Given the description of an element on the screen output the (x, y) to click on. 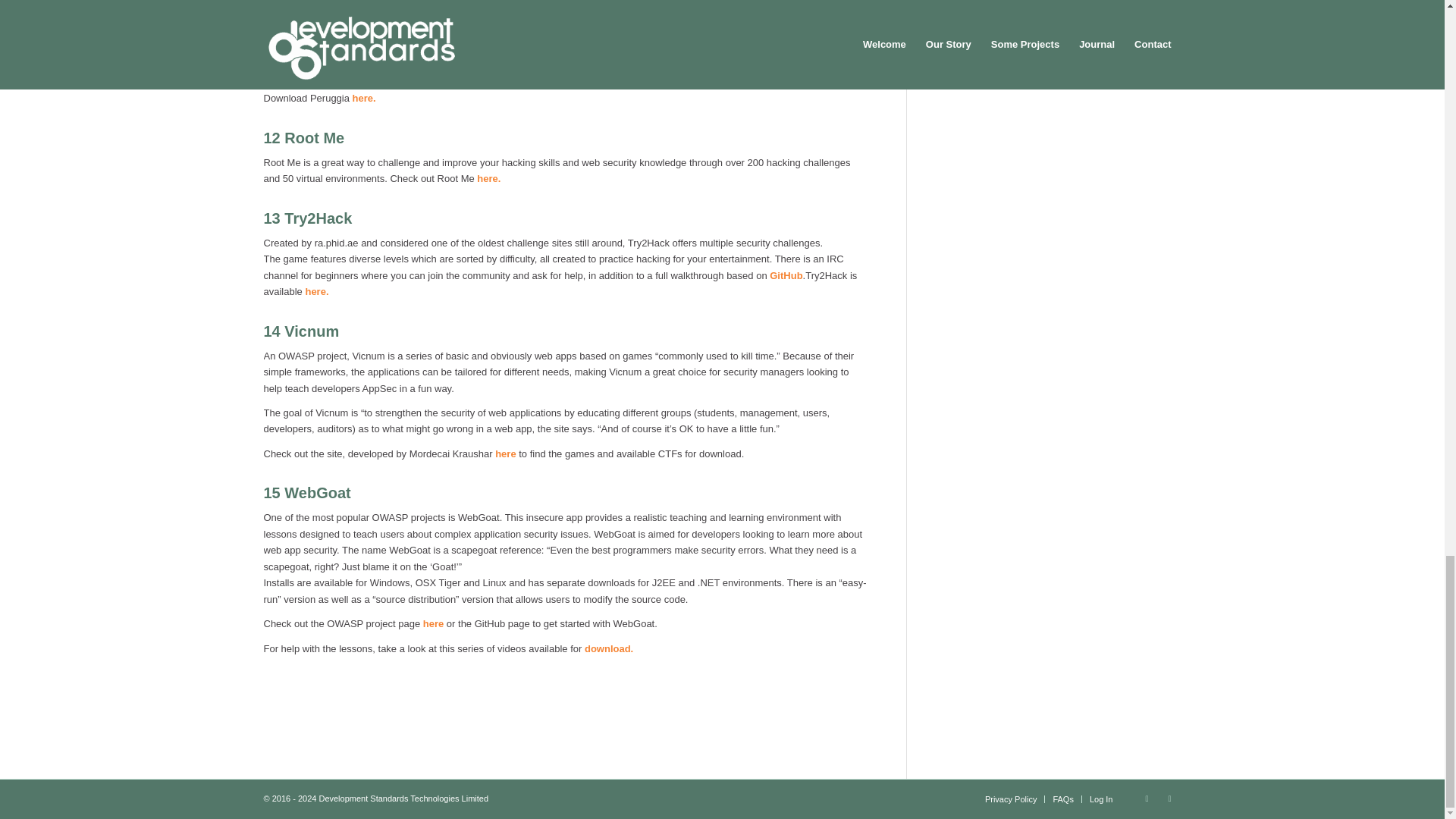
here. (362, 98)
Root Me (313, 137)
Twitter (1146, 798)
here. (488, 178)
Facebook (1169, 798)
here (783, 3)
Peruggia (316, 41)
